Given the description of an element on the screen output the (x, y) to click on. 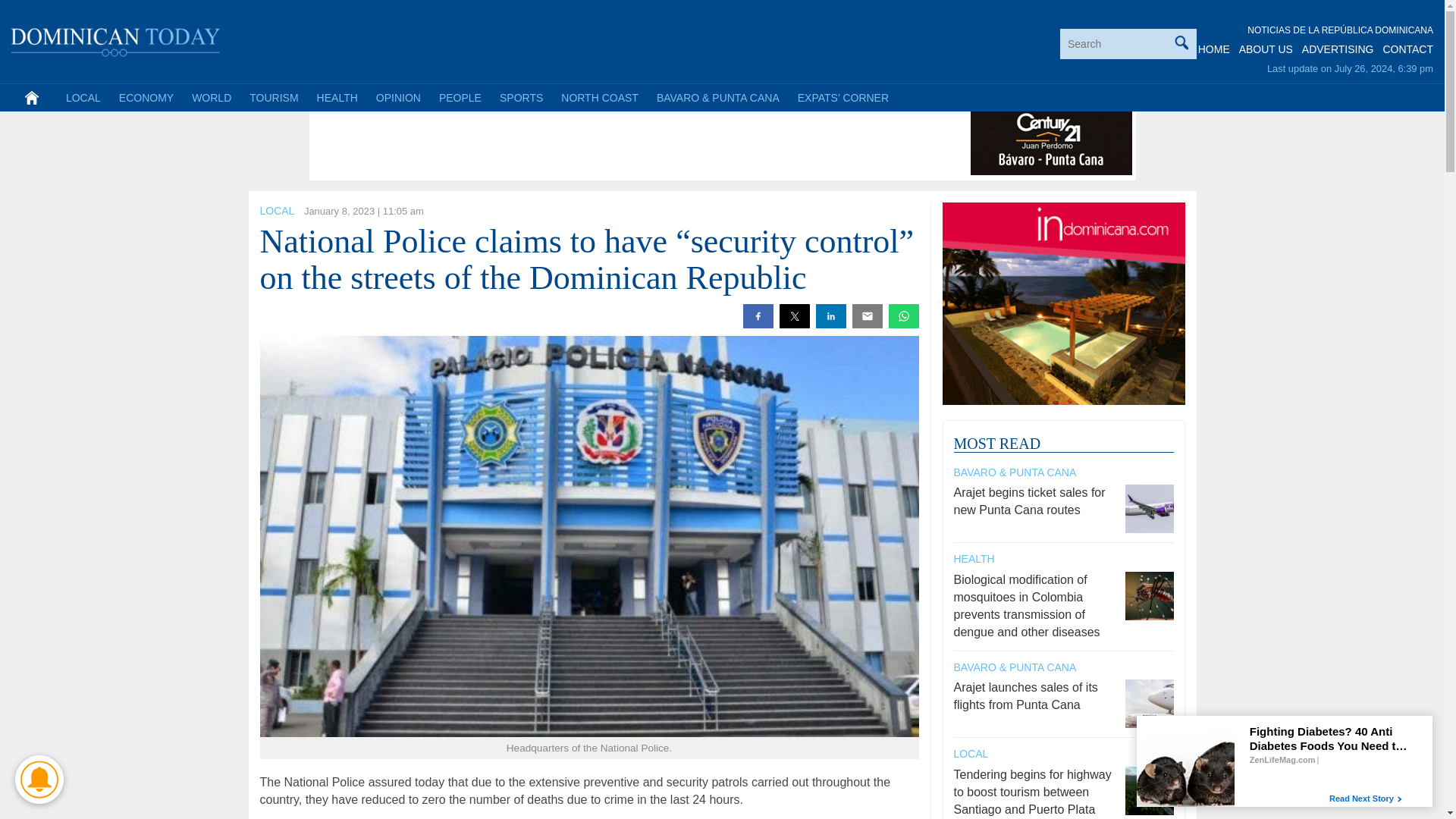
HEALTH (336, 97)
LOCAL (83, 97)
ADVERTISING (1337, 49)
OPINION (397, 97)
CONTACT (1406, 49)
WORLD (211, 97)
ECONOMY (146, 97)
Advertisement (589, 141)
NORTH COAST (599, 97)
Dominican Today News - Santo Domingo and Dominican Republic (116, 38)
LOCAL (276, 210)
HOME (1214, 49)
PEOPLE (459, 97)
TOURISM (273, 97)
